Given the description of an element on the screen output the (x, y) to click on. 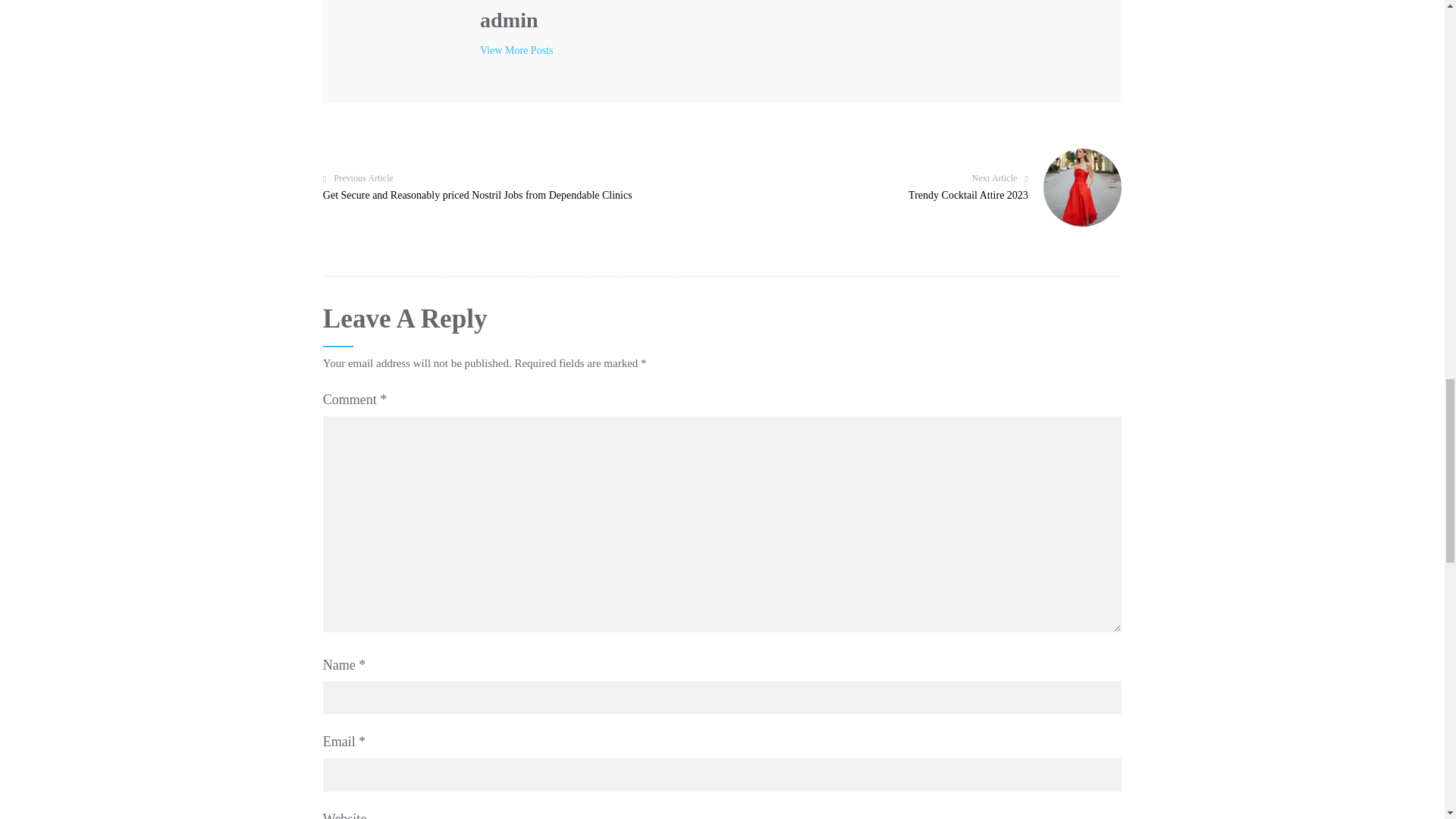
View More Posts (925, 187)
